Given the description of an element on the screen output the (x, y) to click on. 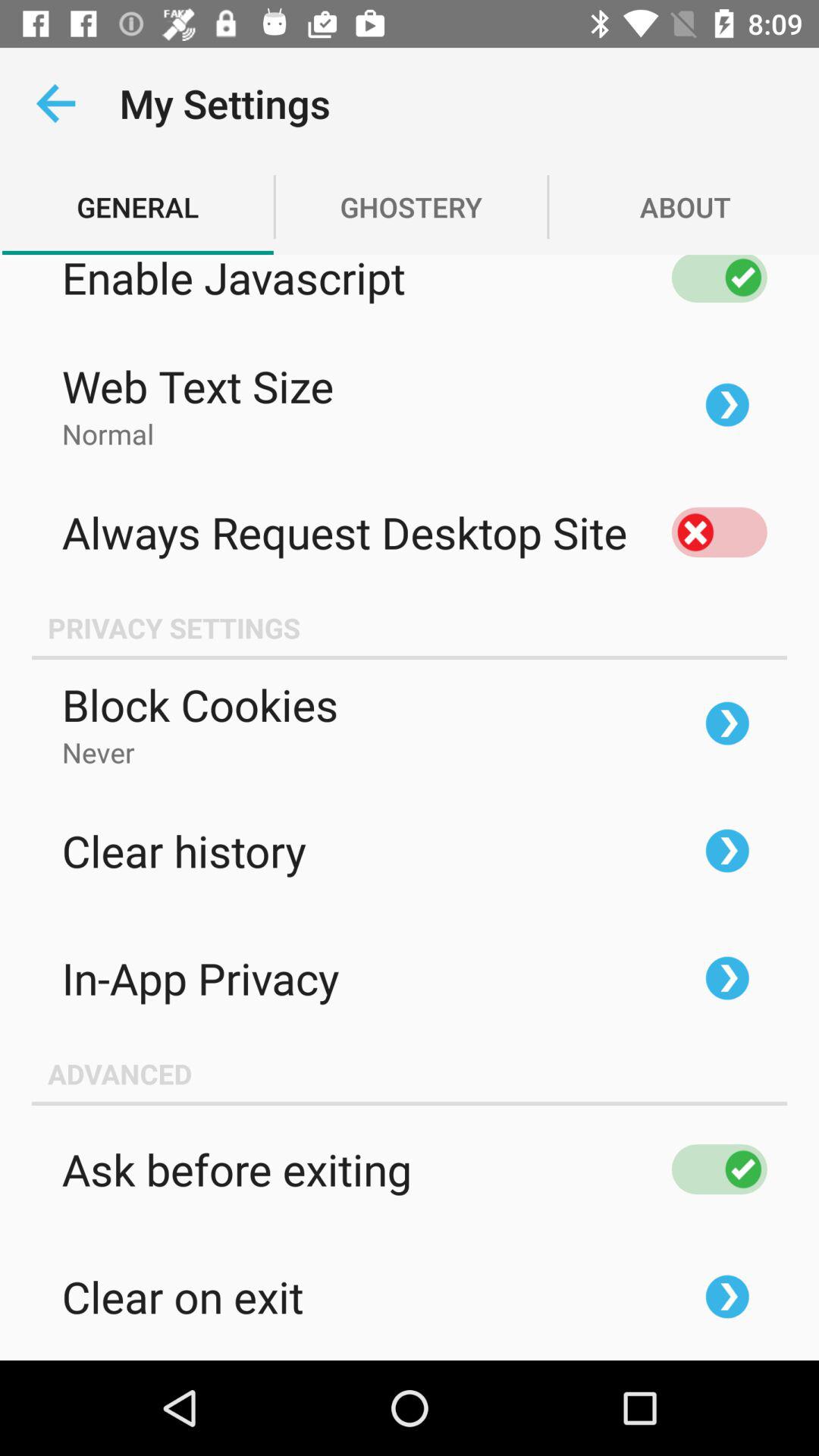
enable ask before exiting (719, 1169)
